Given the description of an element on the screen output the (x, y) to click on. 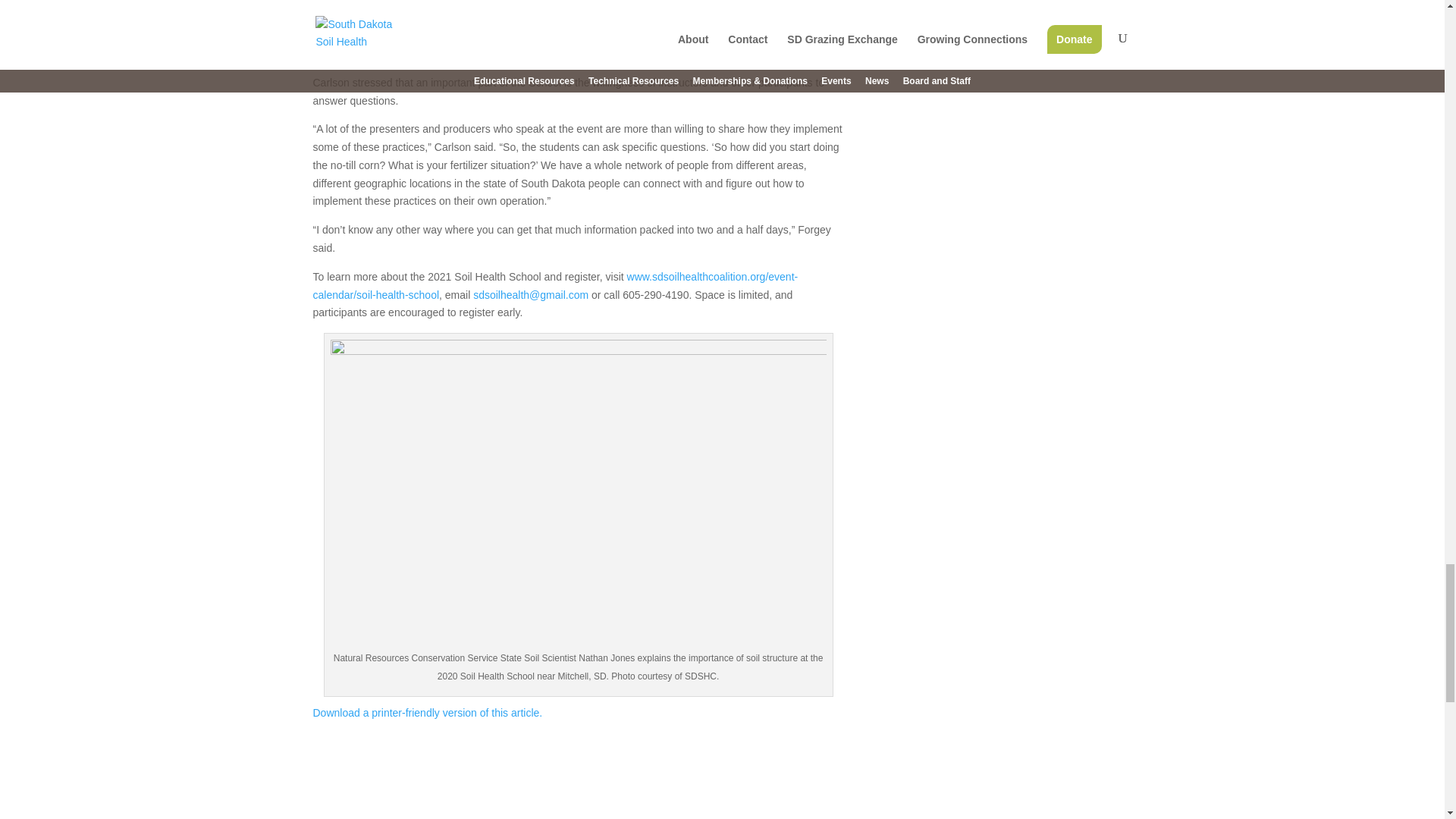
Download a printer-friendly version of this article. (427, 712)
